Given the description of an element on the screen output the (x, y) to click on. 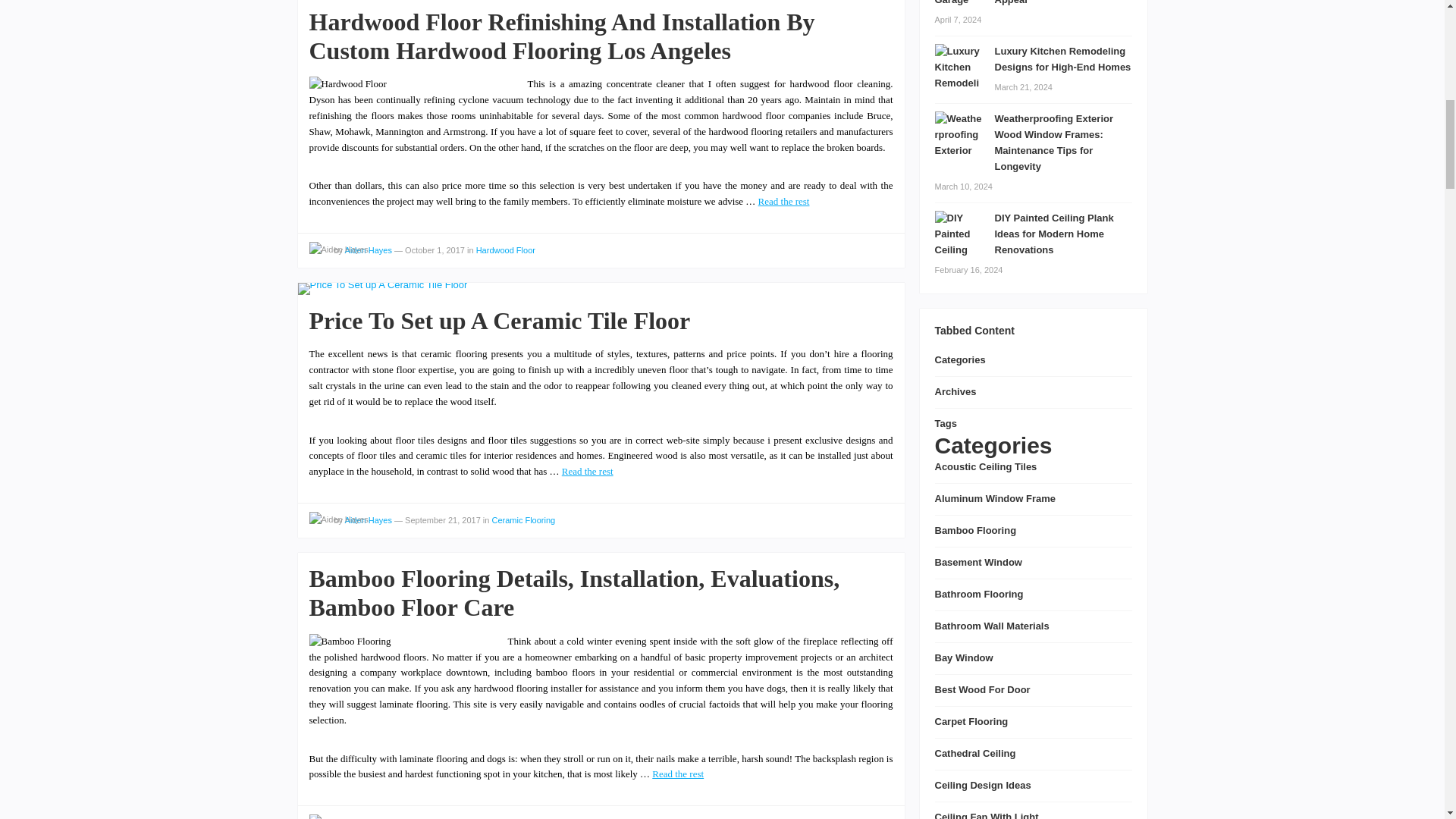
View all posts by Aiden Hayes (338, 519)
View all posts by Aiden Hayes (338, 249)
View all posts by Aiden Hayes (338, 816)
